Given the description of an element on the screen output the (x, y) to click on. 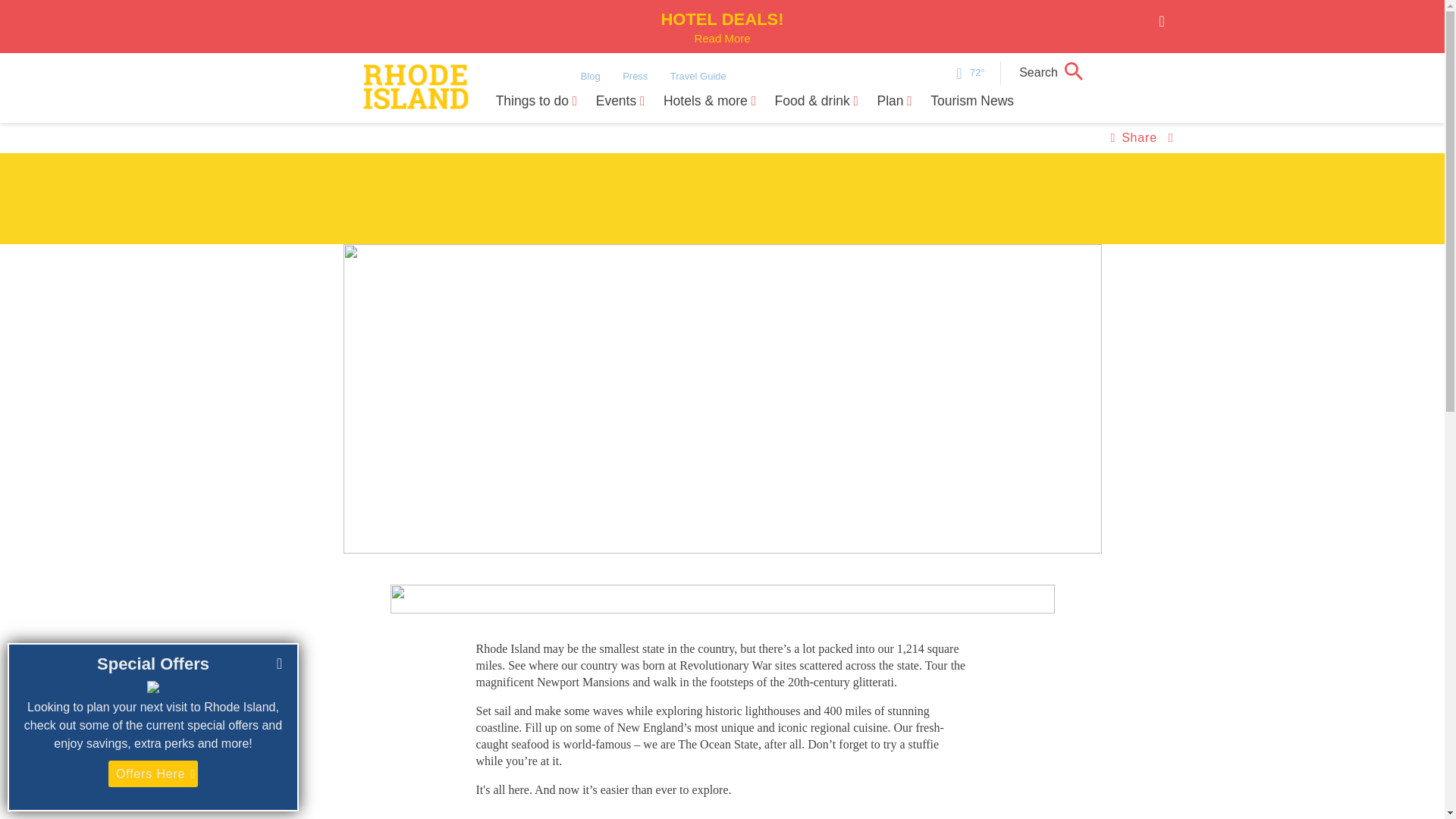
Things to do  (537, 105)
Travel Guide (697, 75)
Press (635, 75)
Travel Guide (697, 75)
Blog (589, 75)
Press (721, 28)
Blog (635, 75)
